Given the description of an element on the screen output the (x, y) to click on. 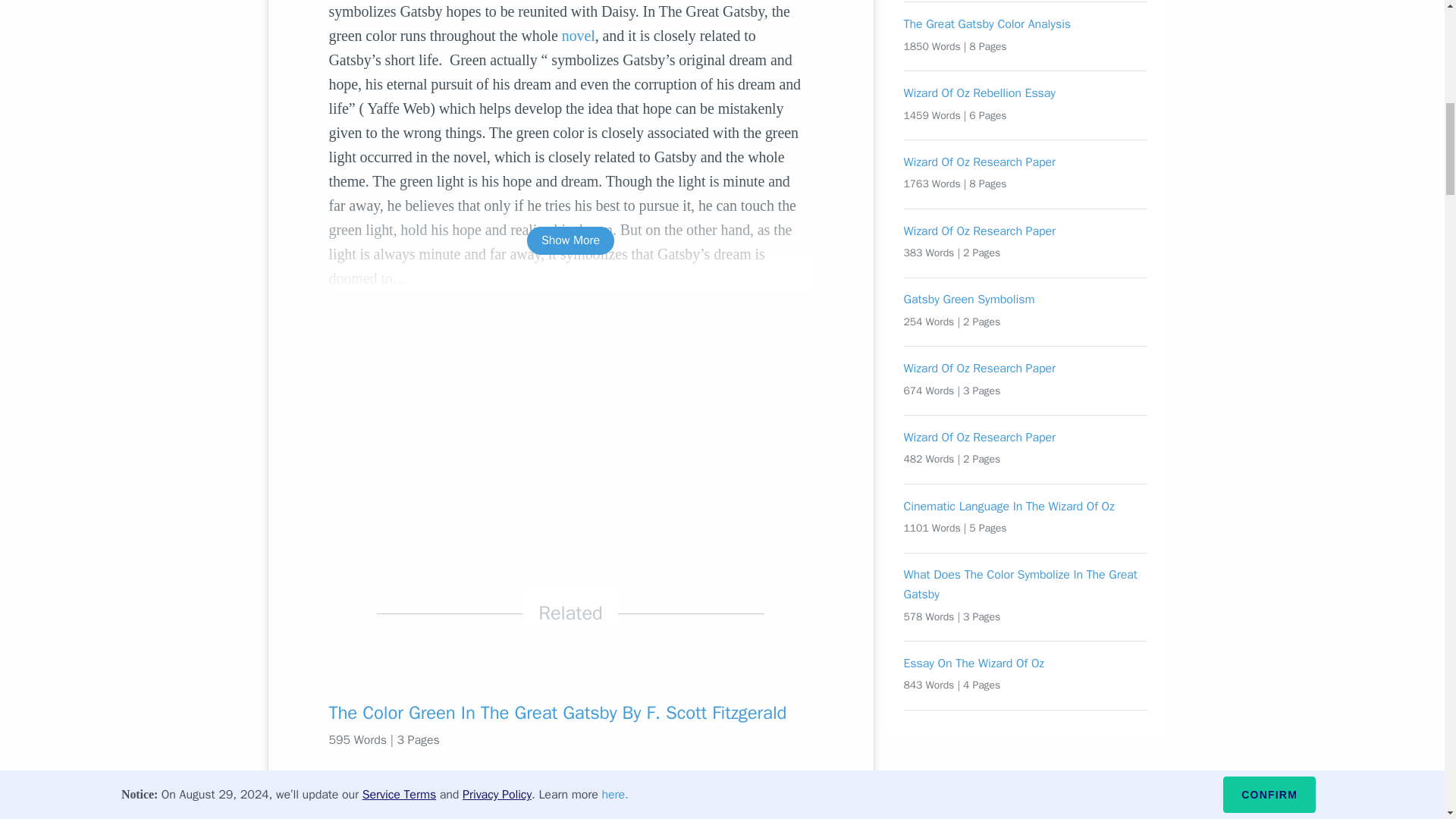
Show More (570, 240)
novel (578, 35)
The Color Green In The Great Gatsby By F. Scott Fitzgerald (570, 712)
